Given the description of an element on the screen output the (x, y) to click on. 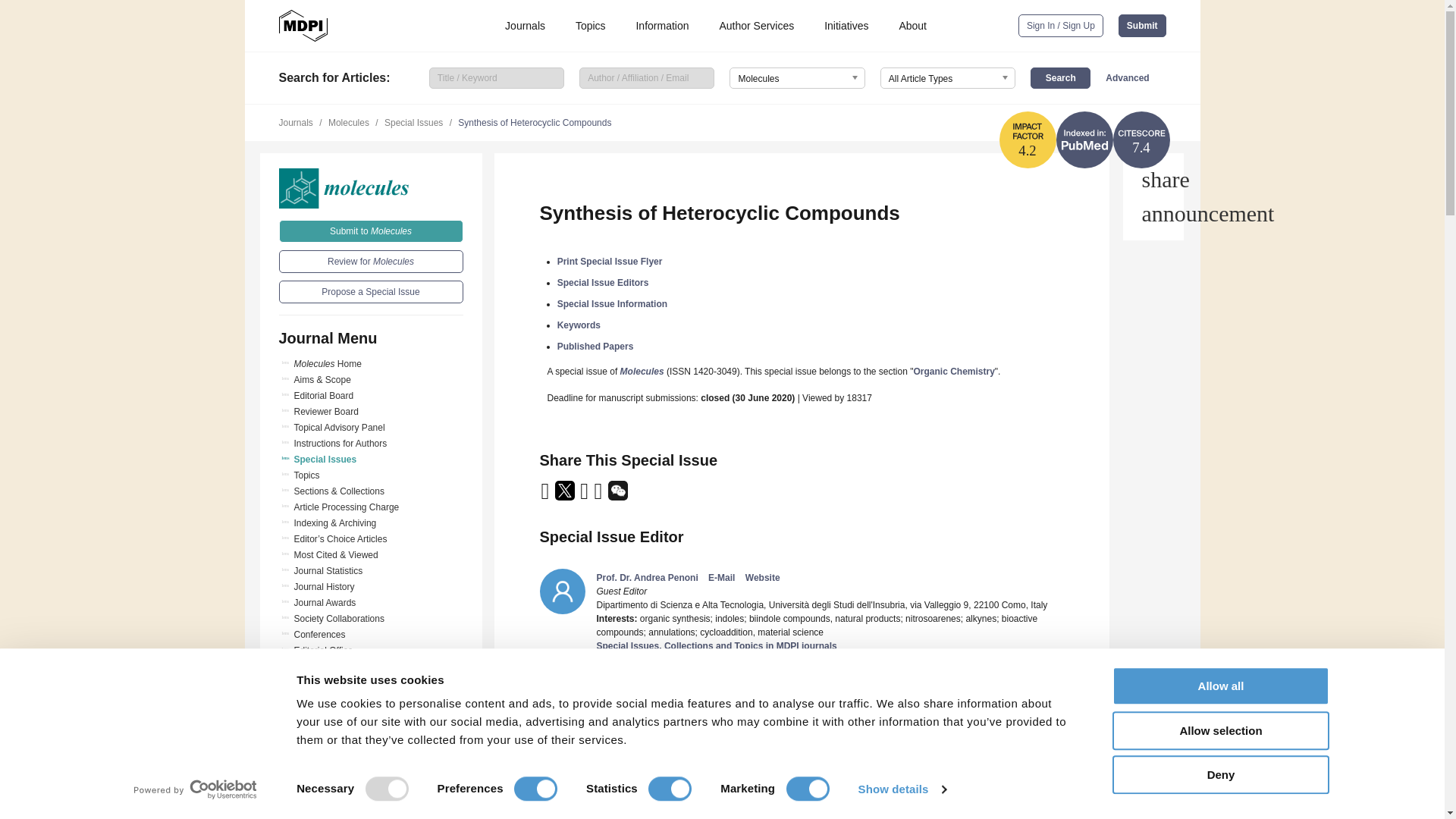
Search (1060, 77)
Show details (900, 789)
Search (1060, 77)
Go (371, 771)
